Given the description of an element on the screen output the (x, y) to click on. 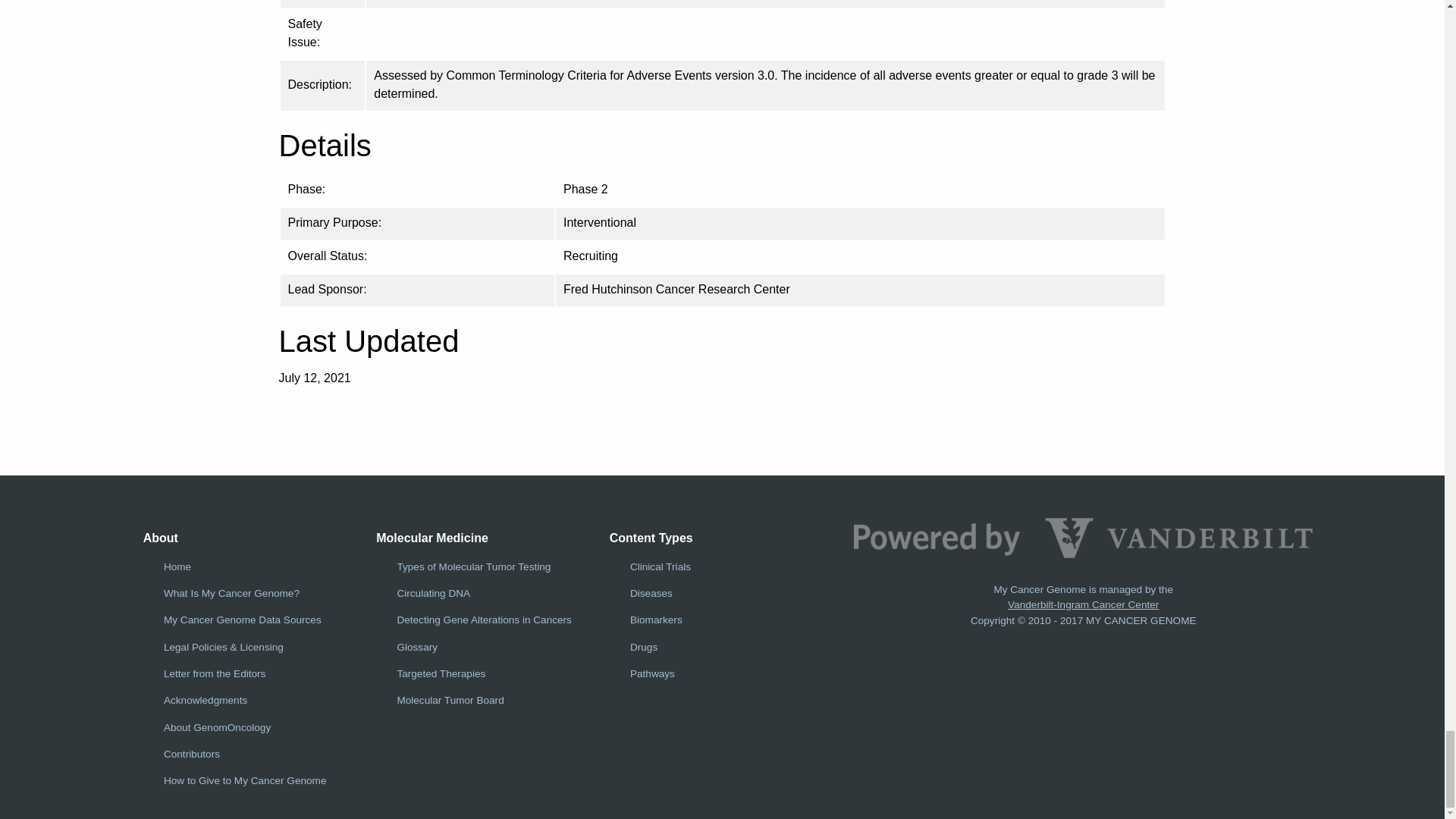
Molecular Tumor Board (449, 699)
Targeted Therapies (440, 673)
About GenomOncology (216, 727)
Glossary (417, 646)
Pathways (652, 673)
Acknowledgments (205, 699)
Biomarkers (656, 619)
How to Give to My Cancer Genome (244, 780)
Detecting Gene Alterations in Cancers (483, 619)
My Cancer Genome Data Sources (242, 619)
